Given the description of an element on the screen output the (x, y) to click on. 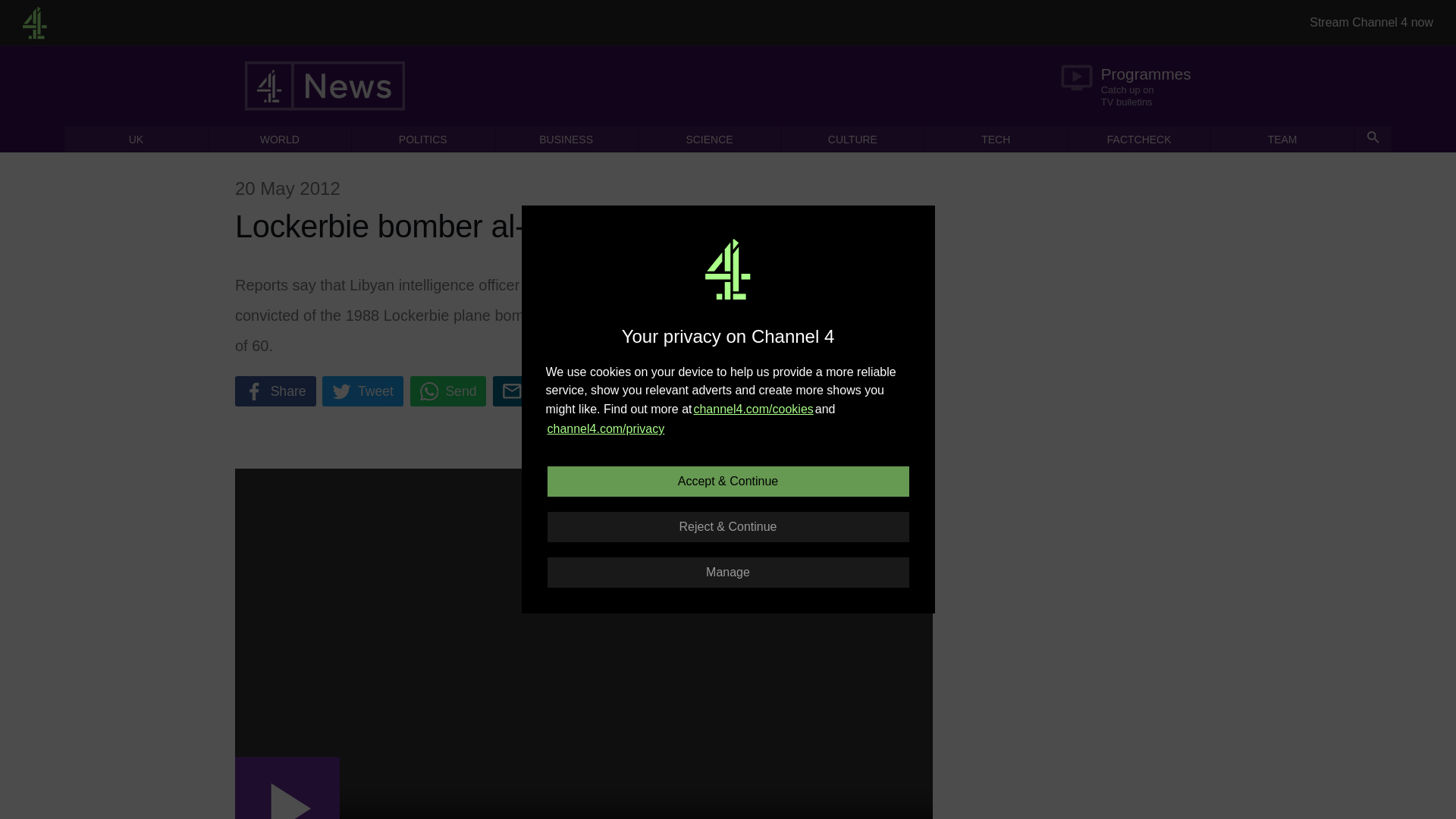
TEAM (1282, 139)
News team (1133, 85)
TECH (1282, 139)
Science news (995, 139)
Business news (709, 139)
Stream Channel 4 now (566, 139)
Email (1371, 22)
World news (532, 390)
BUSINESS (279, 139)
Politics news (566, 139)
Tech news (423, 139)
UK (995, 139)
SCIENCE (136, 139)
Play Video (709, 139)
